Given the description of an element on the screen output the (x, y) to click on. 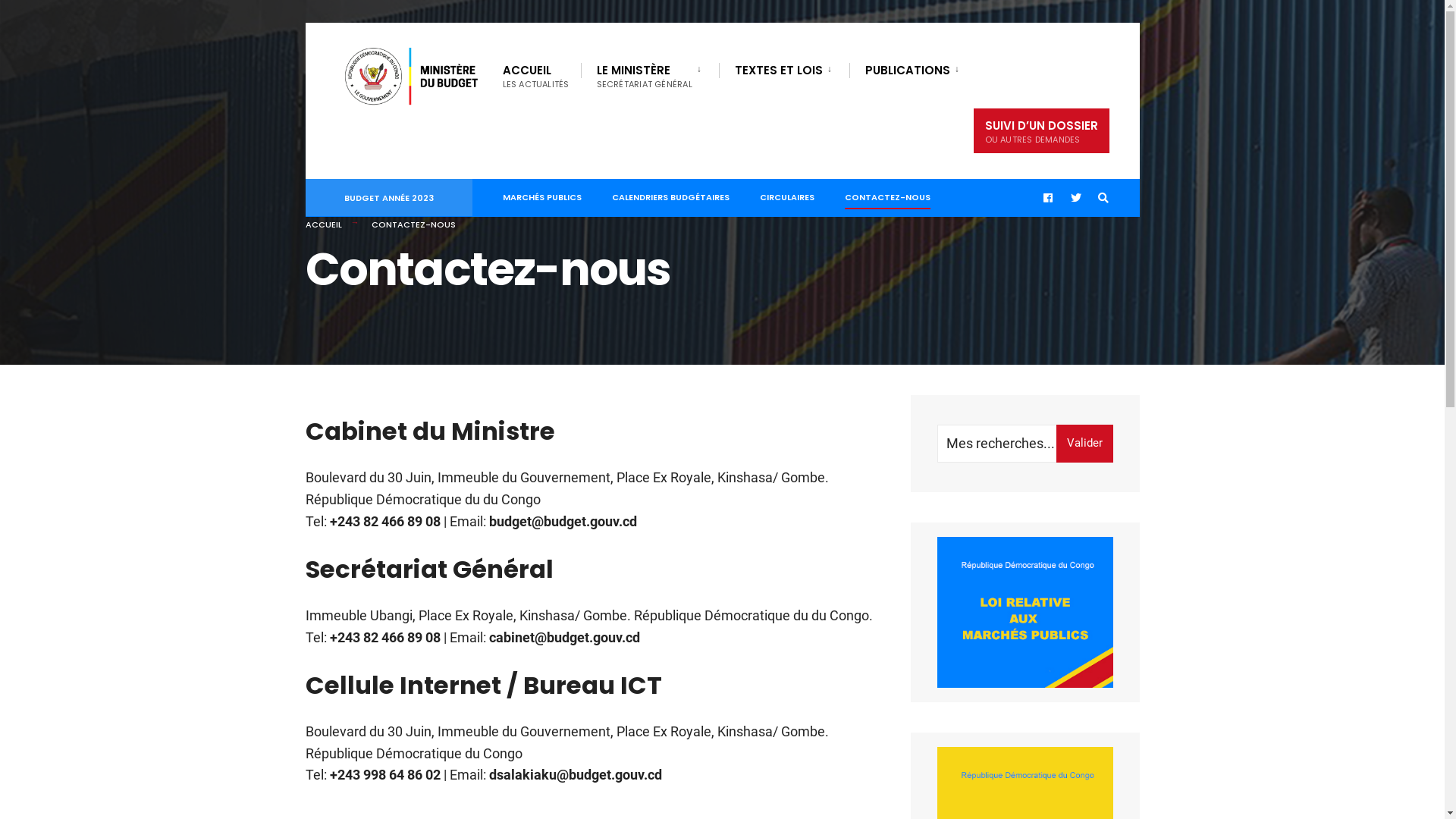
CONTACTEZ-NOUS Element type: text (887, 193)
TEXTES ET LOIS Element type: text (785, 69)
Aller au contenu Element type: text (312, 26)
ACCUEIL Element type: text (322, 224)
CIRCULAIRES Element type: text (786, 193)
Valider Element type: text (1083, 443)
PUBLICATIONS Element type: text (915, 69)
